Given the description of an element on the screen output the (x, y) to click on. 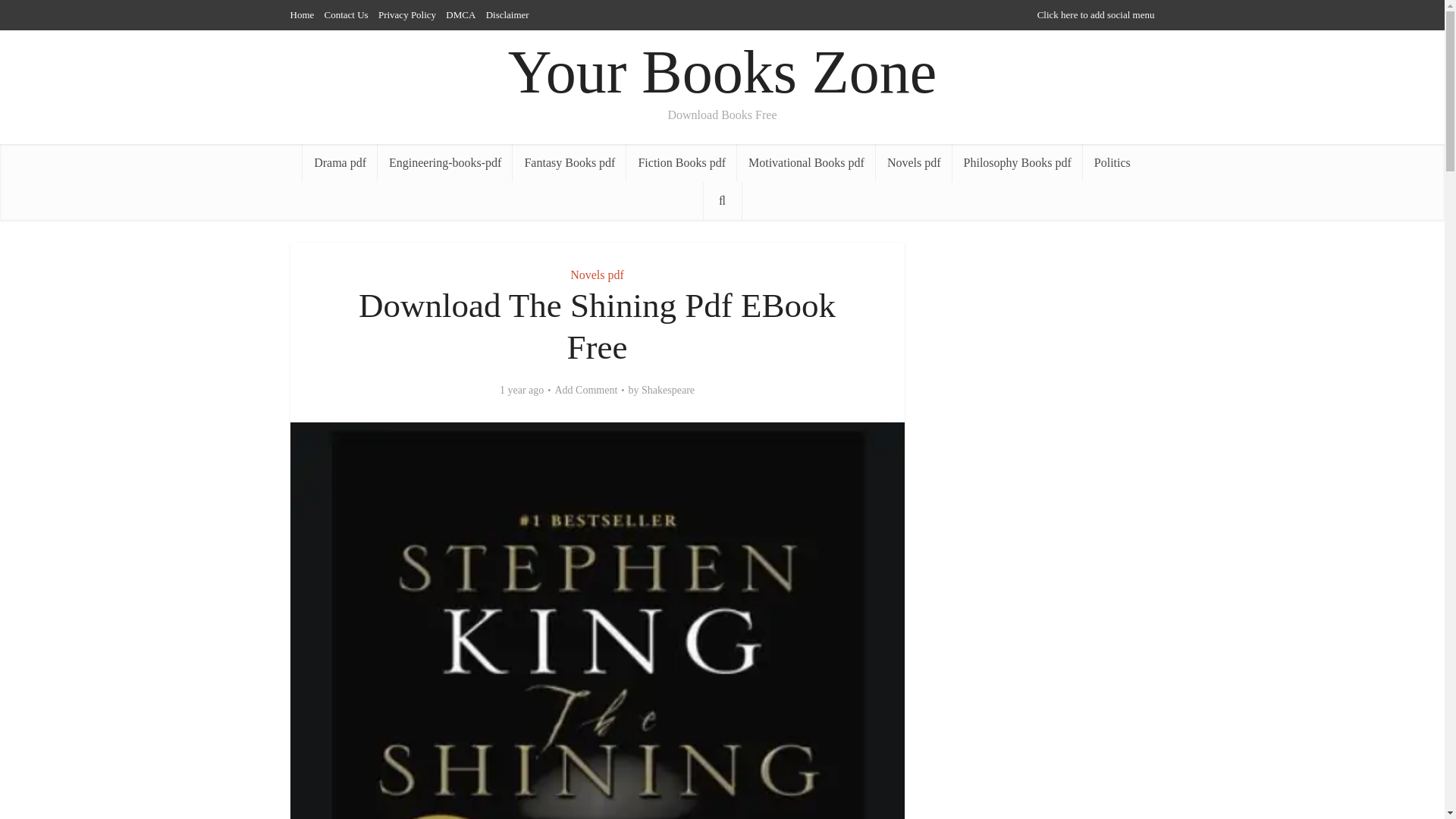
Contact Us (346, 14)
Motivational Books pdf (806, 162)
Privacy Policy (406, 14)
Fantasy Books pdf (569, 162)
Politics (1112, 162)
Novels pdf (597, 274)
Your Books Zone (722, 71)
Engineering-books-pdf (444, 162)
Shakespeare (668, 390)
Drama pdf (339, 162)
